Given the description of an element on the screen output the (x, y) to click on. 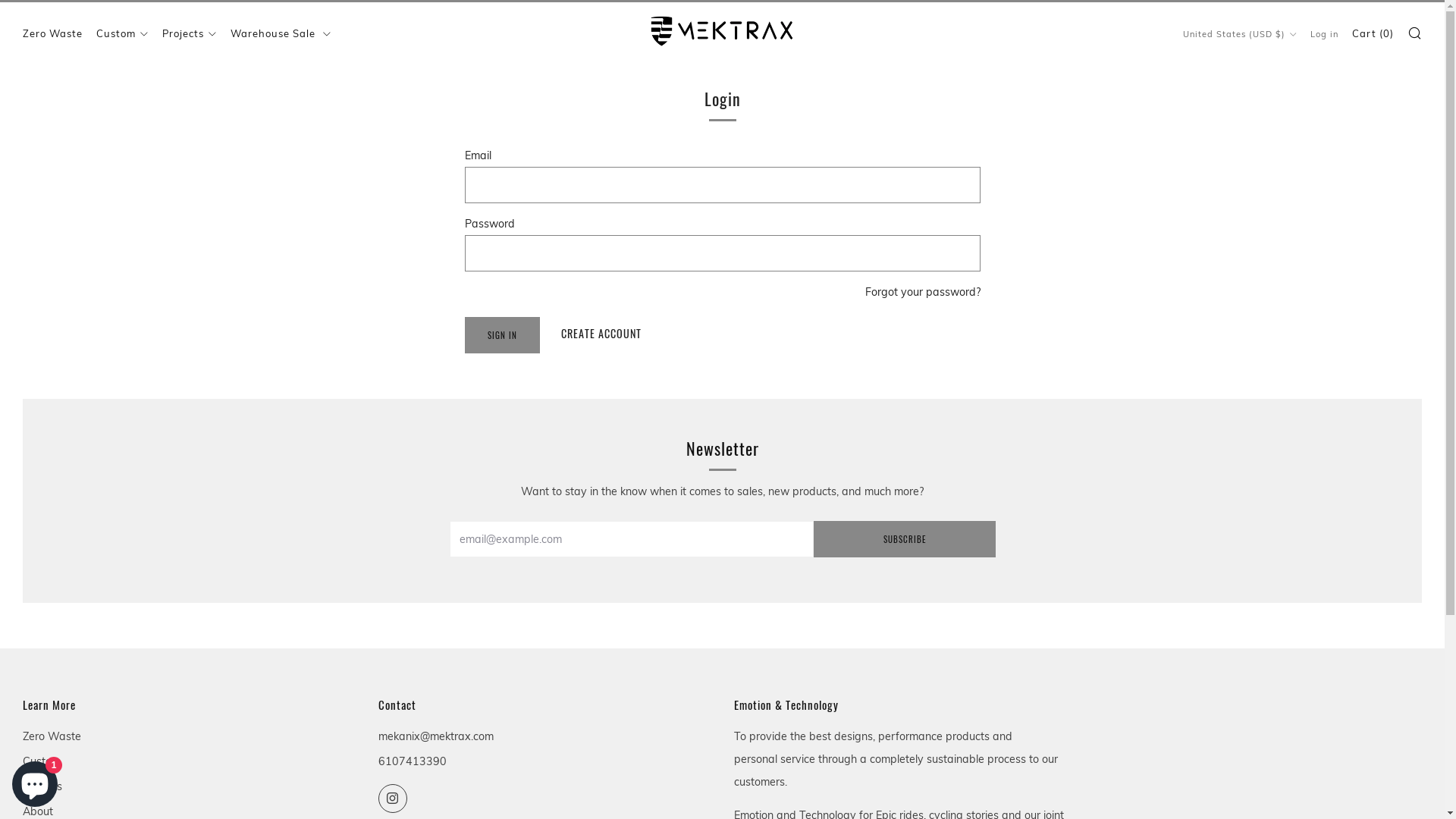
Instagram Element type: text (392, 798)
Cart (0) Element type: text (1372, 33)
Projects Element type: text (42, 786)
6107413390 Element type: text (412, 761)
Warehouse Sale Element type: text (280, 33)
Sign In Element type: text (501, 334)
Projects Element type: text (189, 33)
Custom Element type: text (41, 761)
mekanix@mektrax.com Element type: text (435, 736)
About Element type: text (37, 811)
United States (USD $) Element type: text (1239, 33)
Shopify online store chat Element type: hover (34, 780)
Search Element type: text (1414, 32)
Zero Waste Element type: text (52, 33)
CREATE ACCOUNT Element type: text (601, 333)
Forgot your password? Element type: text (921, 291)
SUBSCRIBE Element type: text (903, 538)
Zero Waste Element type: text (51, 736)
Custom Element type: text (122, 33)
Log in Element type: text (1324, 33)
